Given the description of an element on the screen output the (x, y) to click on. 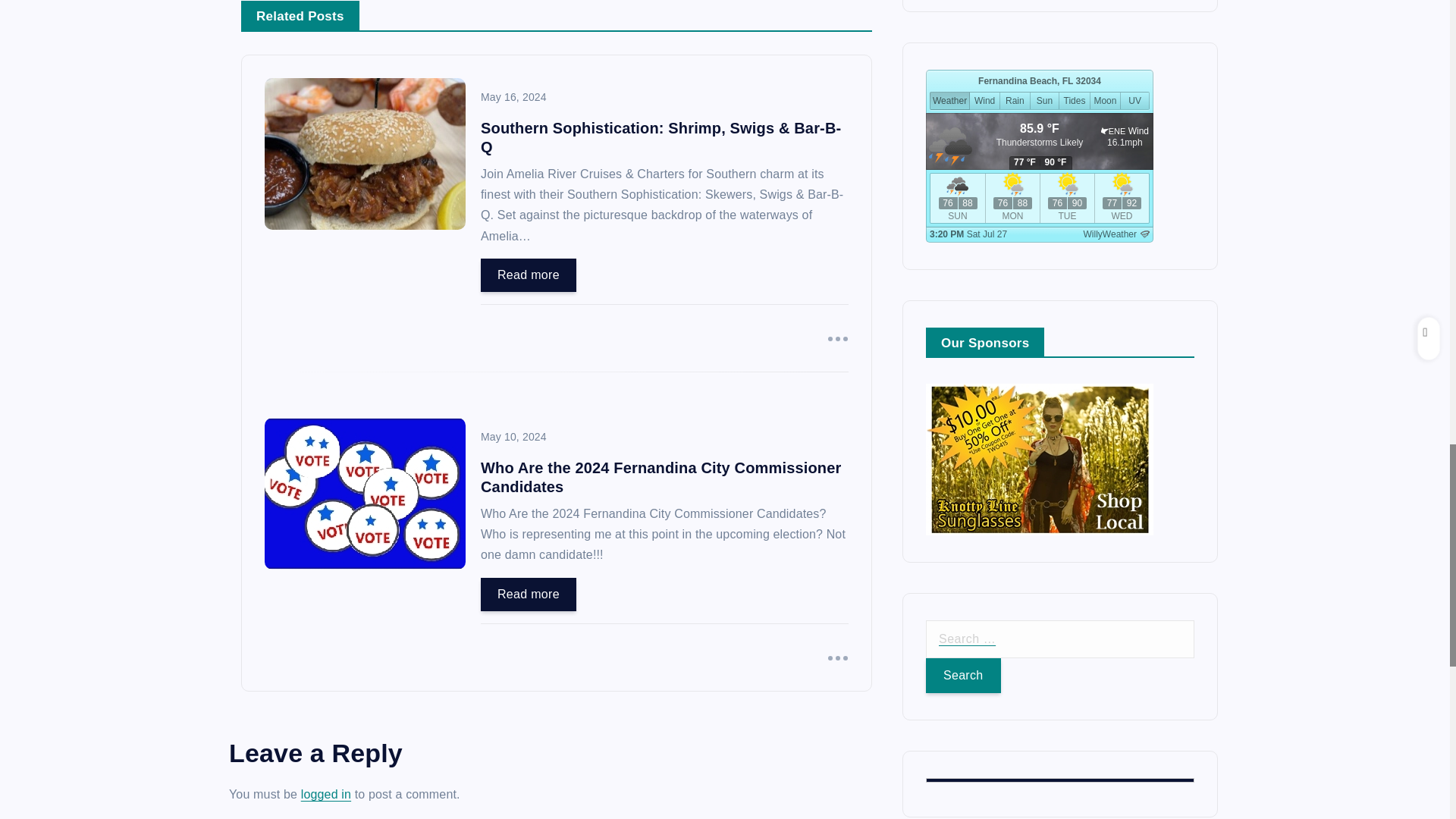
Search (963, 115)
Search (963, 115)
